Given the description of an element on the screen output the (x, y) to click on. 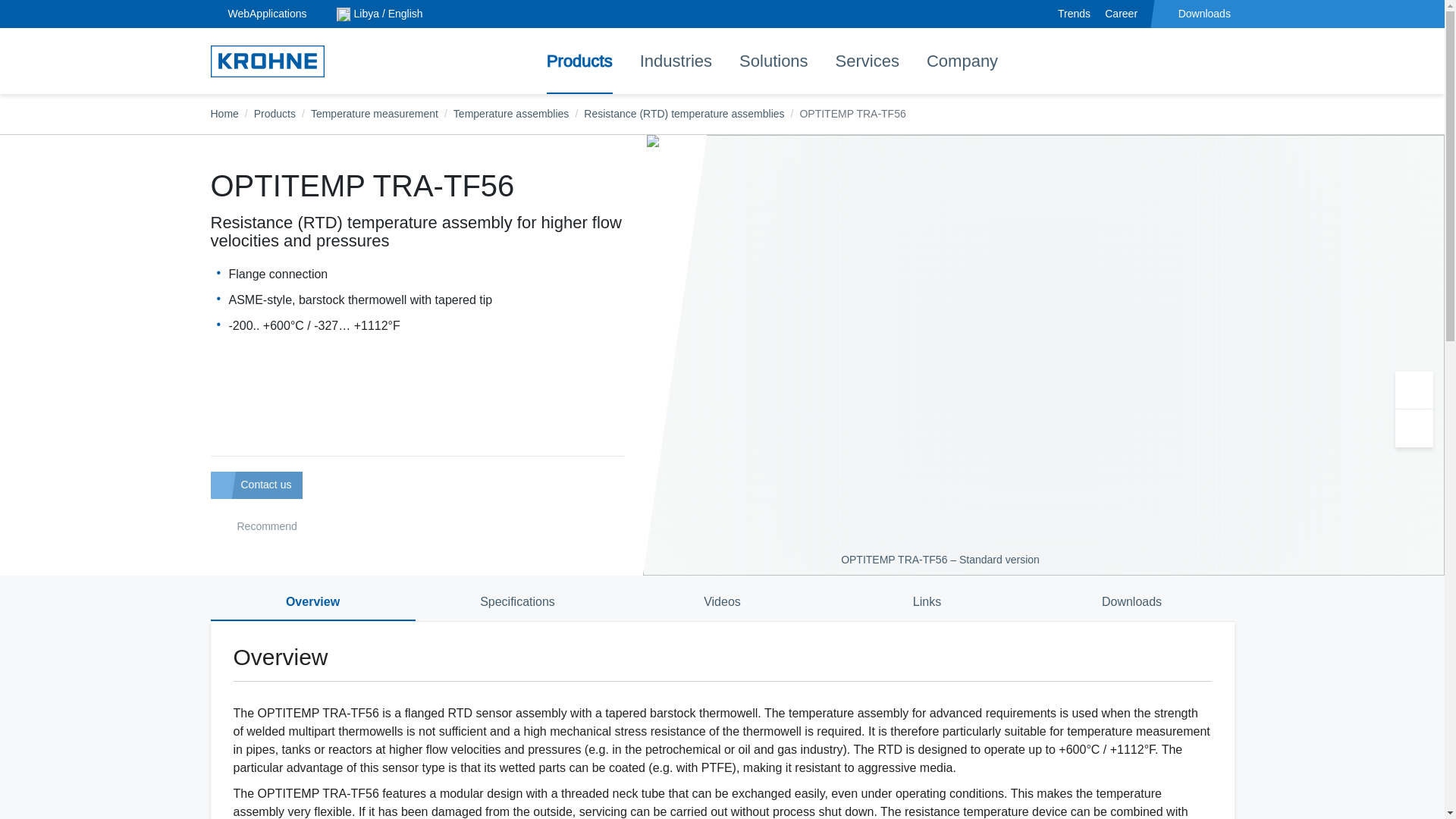
Company (961, 60)
Overview (312, 601)
Downloads (1197, 13)
Home (224, 113)
Products (579, 60)
Links (927, 601)
Videos (722, 601)
Trends (1073, 13)
Services (867, 60)
Solutions (773, 60)
Products (274, 113)
Recommend (256, 527)
Industries (675, 60)
Career (1120, 13)
Temperature measurement (374, 113)
